Given the description of an element on the screen output the (x, y) to click on. 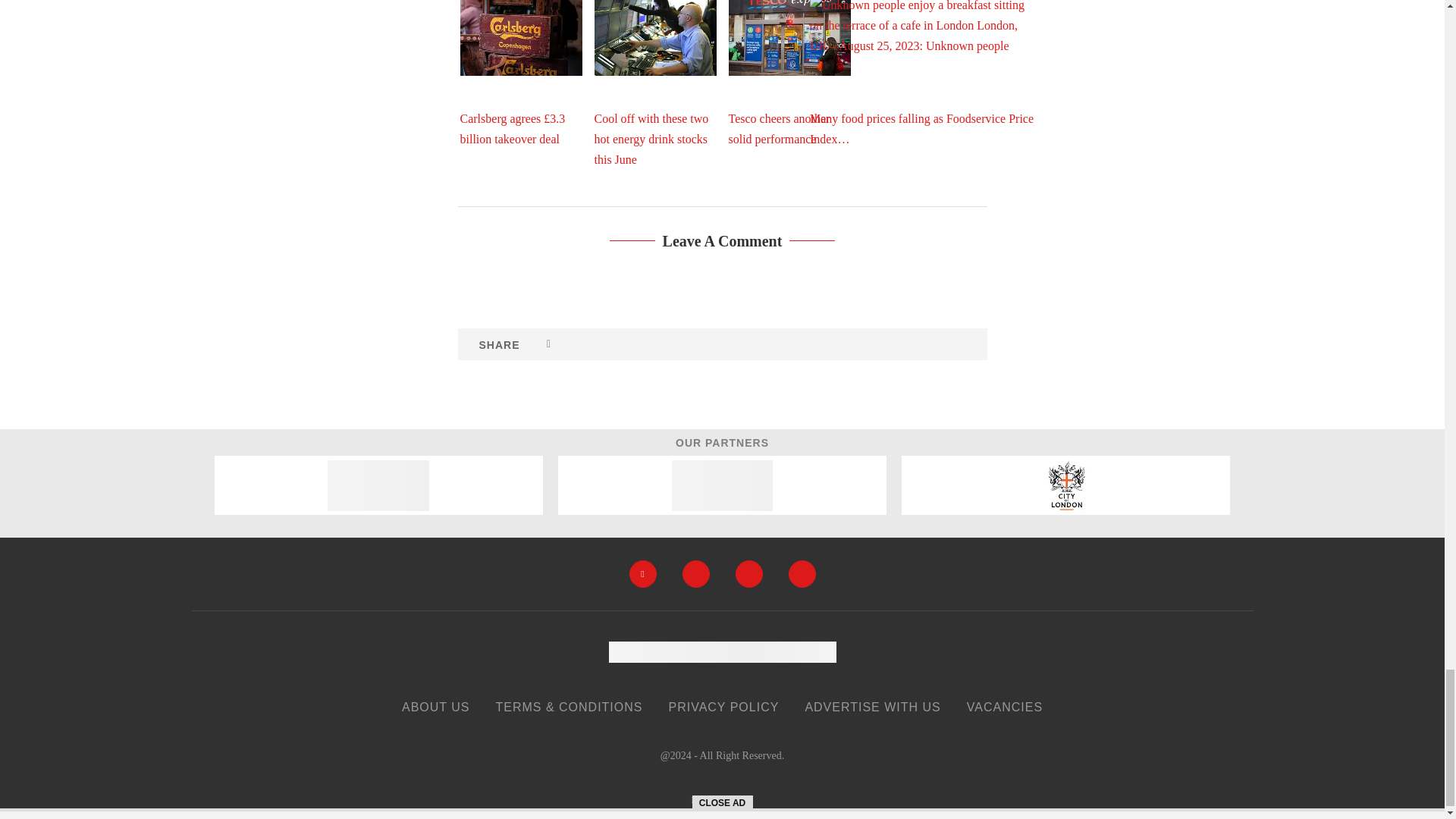
Tesco cheers another solid performance (789, 38)
Cool off with these two hot energy drink stocks this June (655, 38)
